Given the description of an element on the screen output the (x, y) to click on. 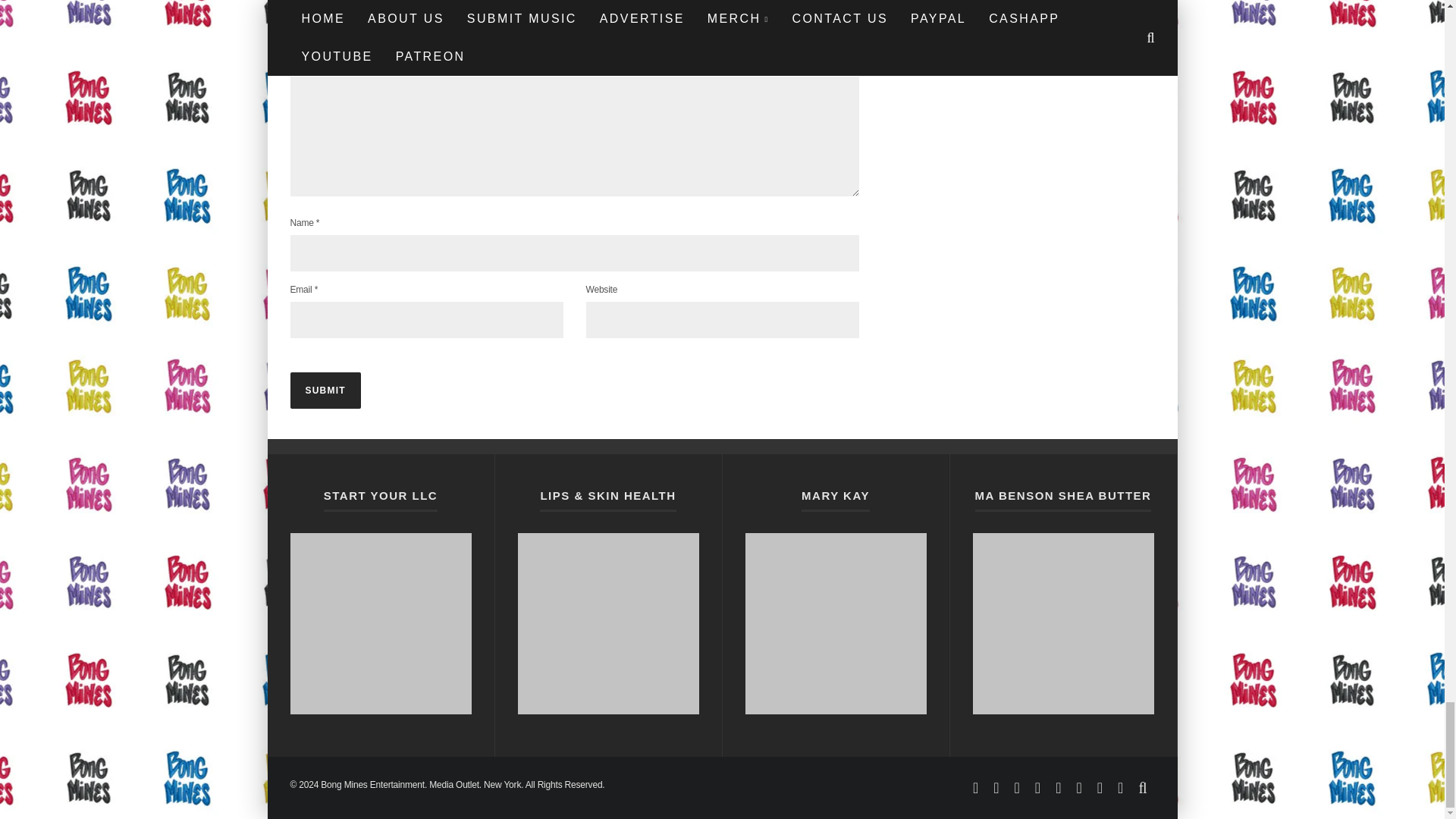
Ma Benson Shea BUtter (1062, 623)
Pineapple In da SUN Spotify playlist (379, 623)
Take a Look... Audiobook (835, 623)
Submit (324, 390)
